Given the description of an element on the screen output the (x, y) to click on. 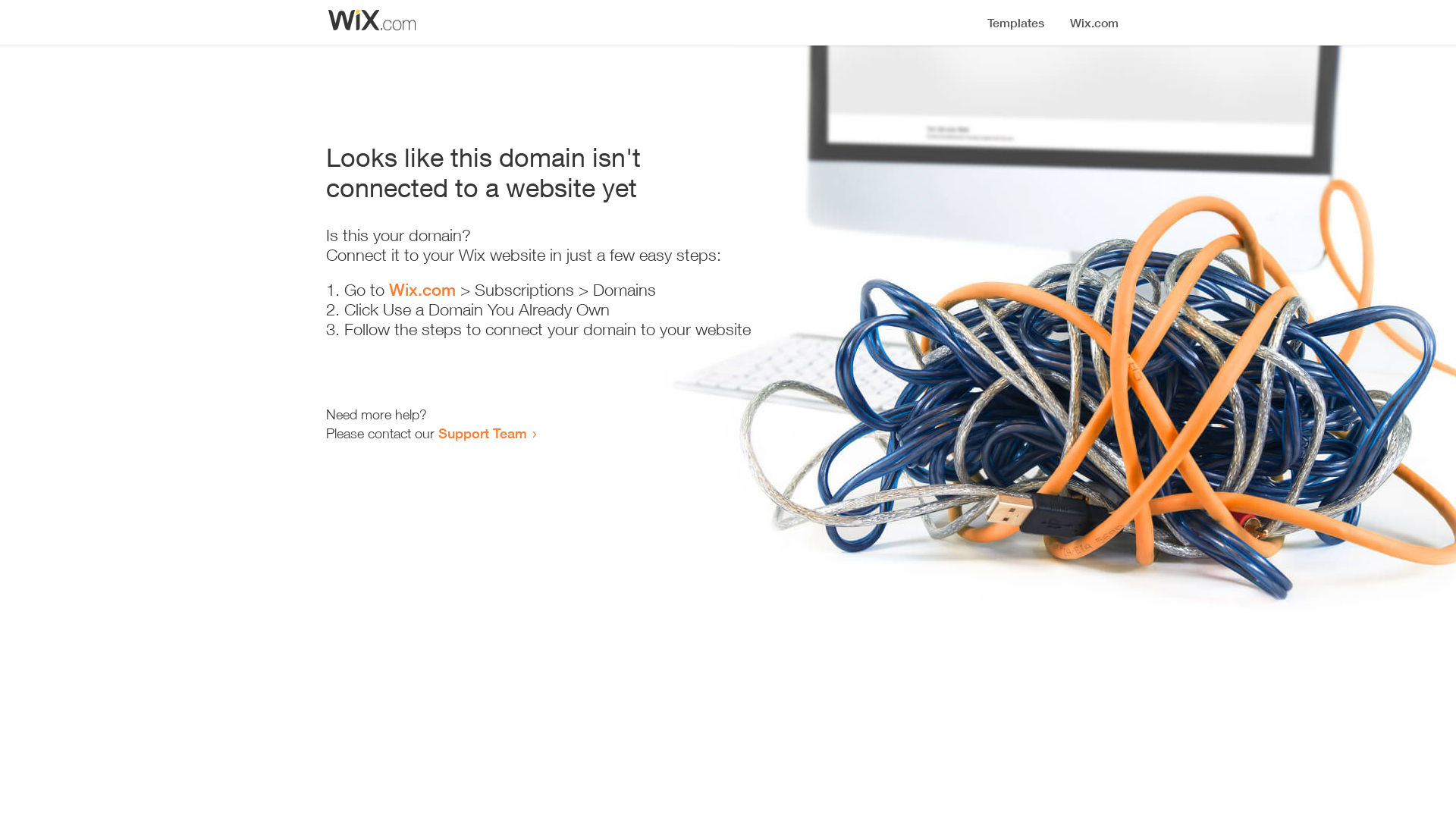
Wix.com Element type: text (422, 289)
Support Team Element type: text (482, 432)
